Given the description of an element on the screen output the (x, y) to click on. 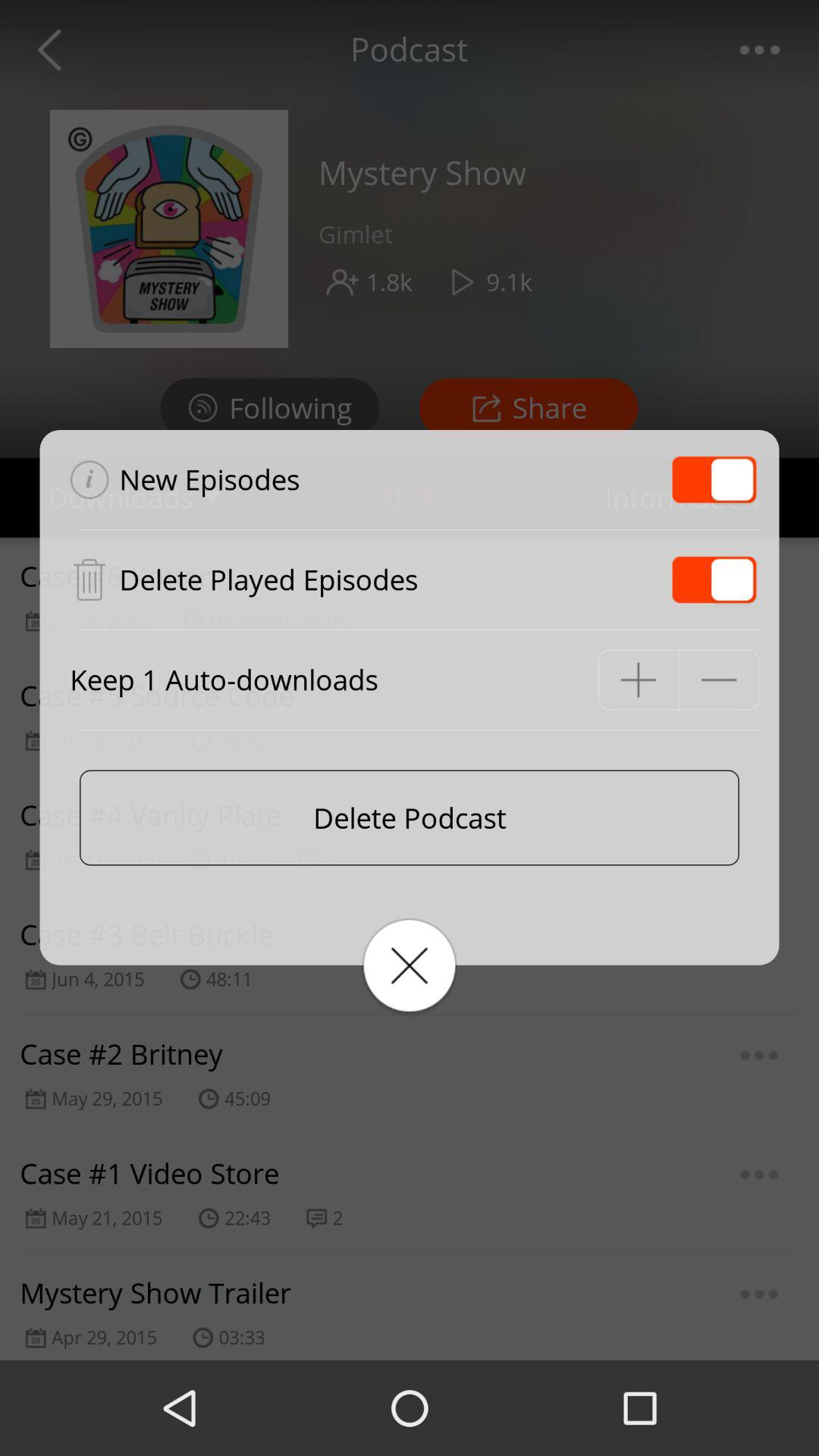
tap the icon to the right of keep 1 auto icon (638, 679)
